Given the description of an element on the screen output the (x, y) to click on. 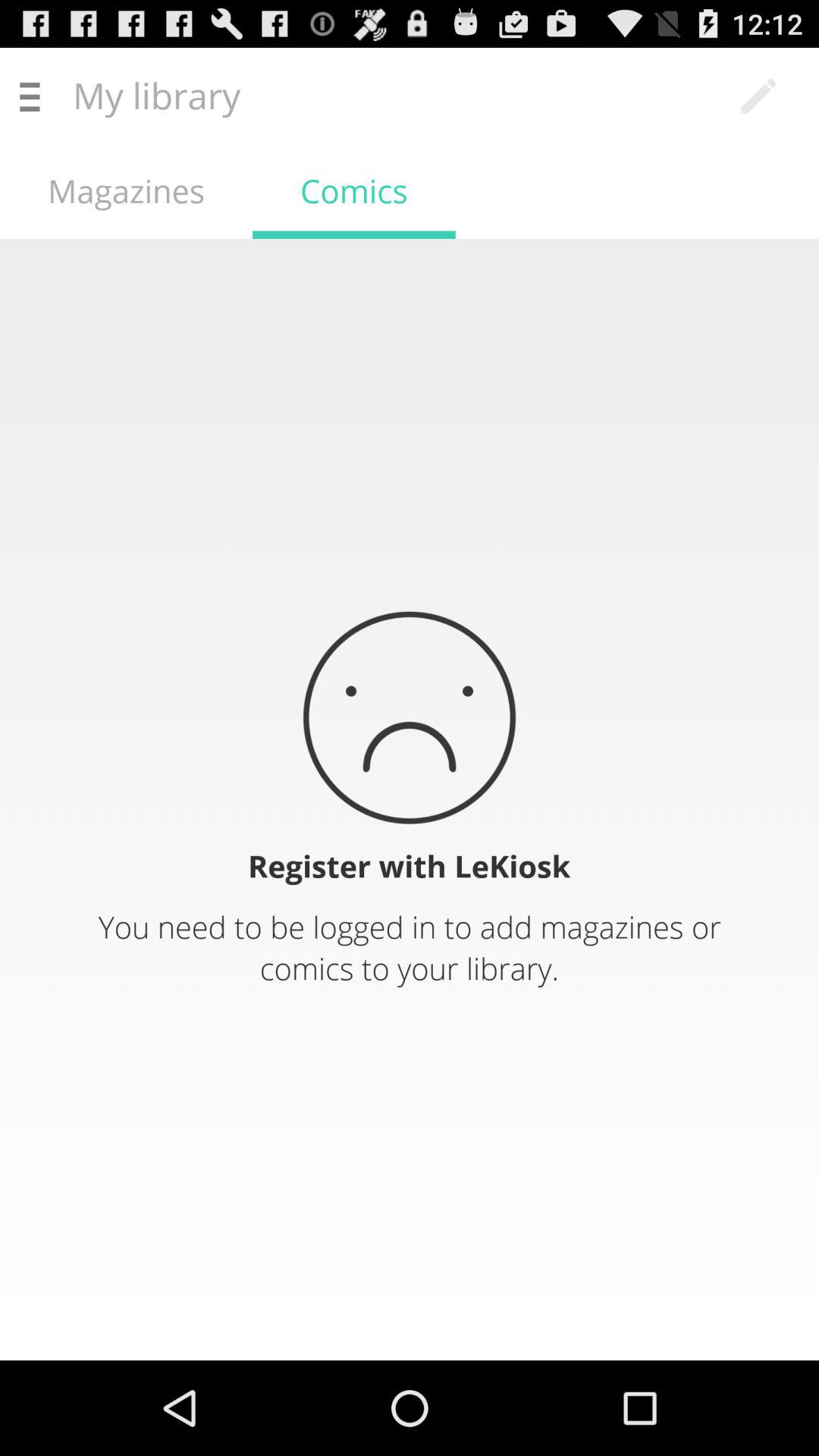
sends user to registration page (409, 799)
